Given the description of an element on the screen output the (x, y) to click on. 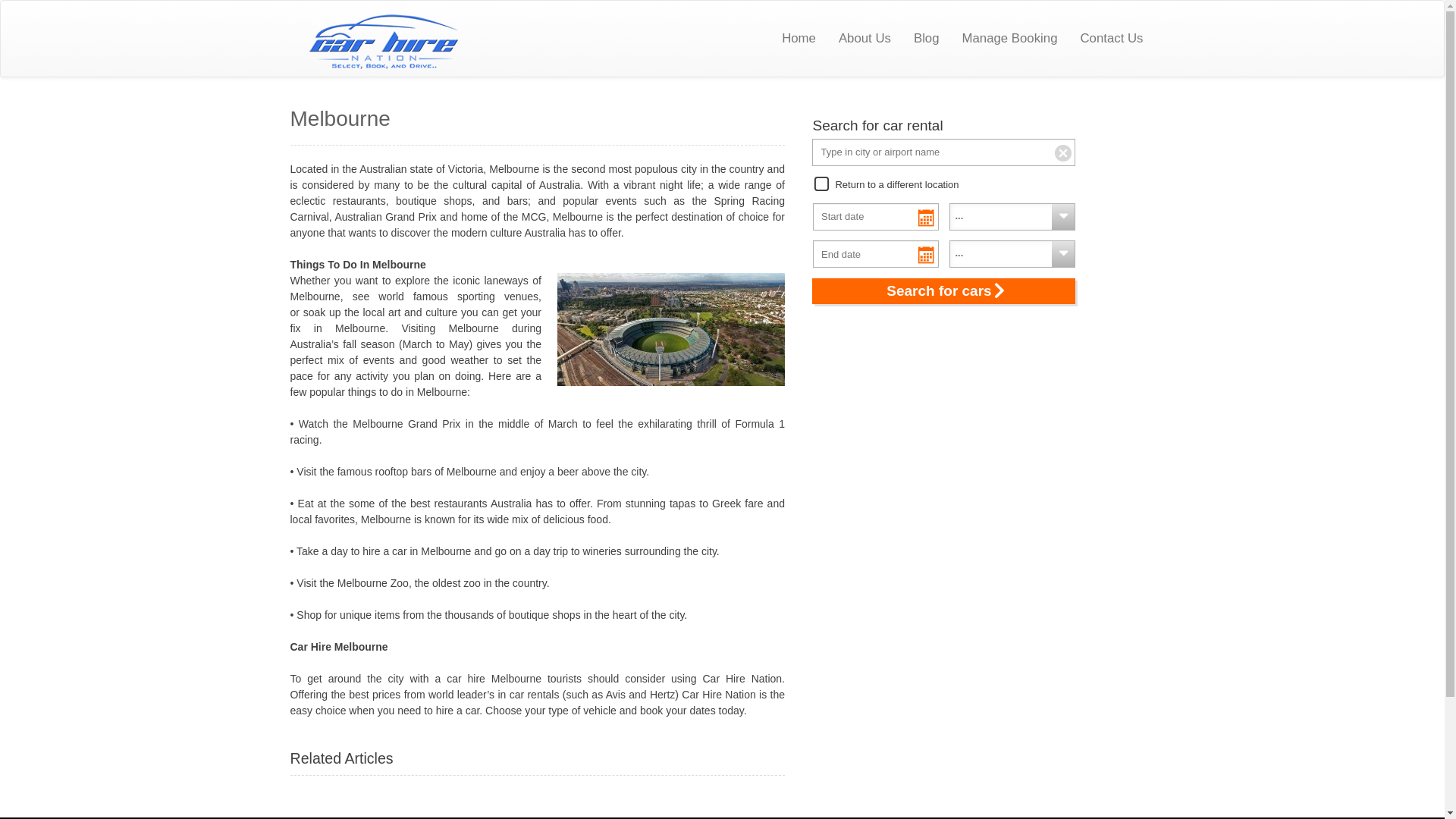
Search for cars (943, 290)
Contact Us (1111, 38)
About Us (864, 38)
Contact Us (1111, 38)
About Us (864, 38)
Manage Booking (1009, 38)
Manage Booking (1009, 38)
